Given the description of an element on the screen output the (x, y) to click on. 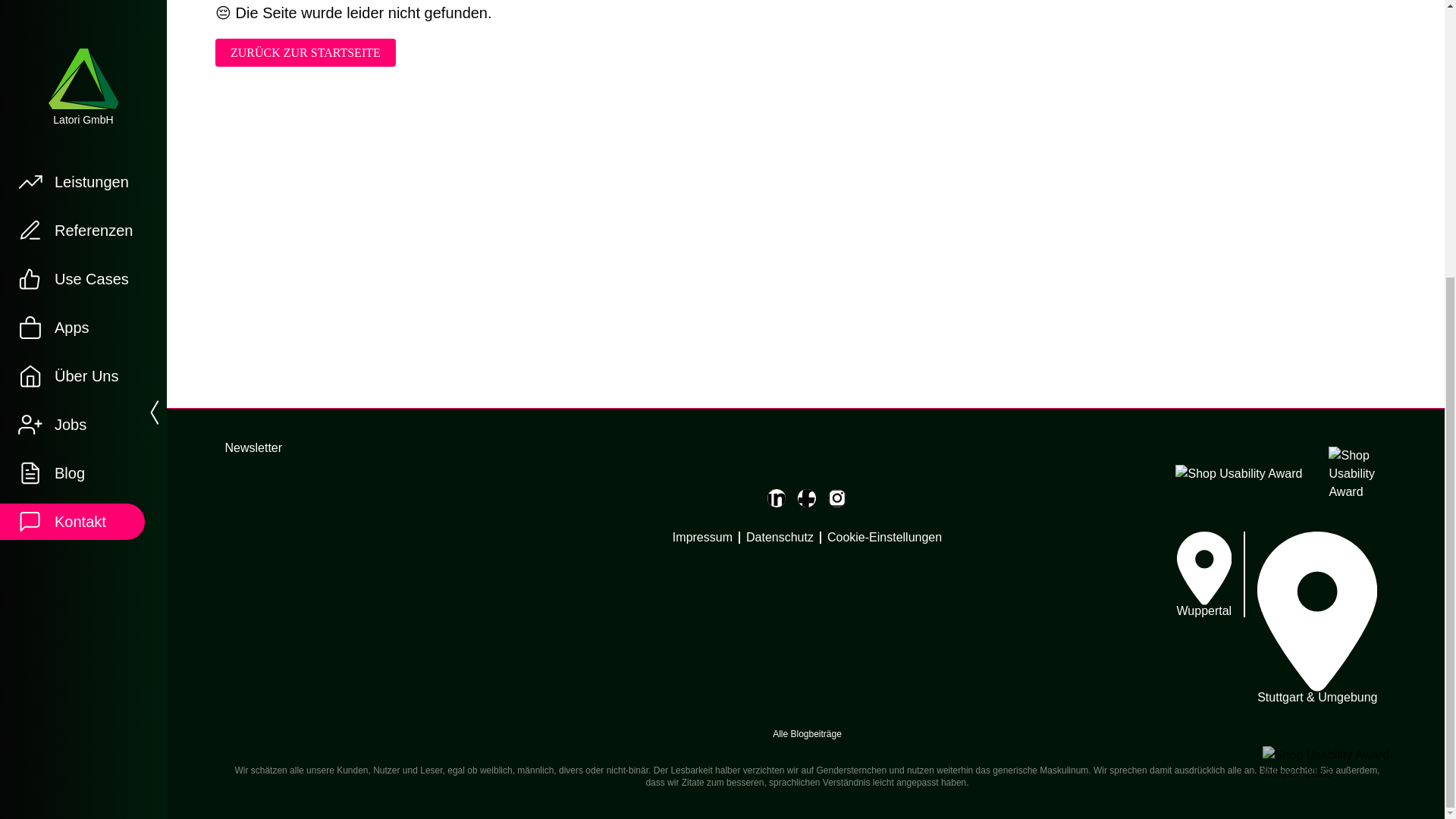
Jobs (74, 13)
Instagram (836, 497)
Jobs (74, 13)
Impressum (702, 536)
Blog (74, 61)
Kontakt (74, 110)
Facebook (806, 497)
Kontakt (74, 110)
Datenschutz (779, 536)
Cookie-Einstellungen (884, 537)
Blog (74, 61)
Linkedin (776, 497)
